Given the description of an element on the screen output the (x, y) to click on. 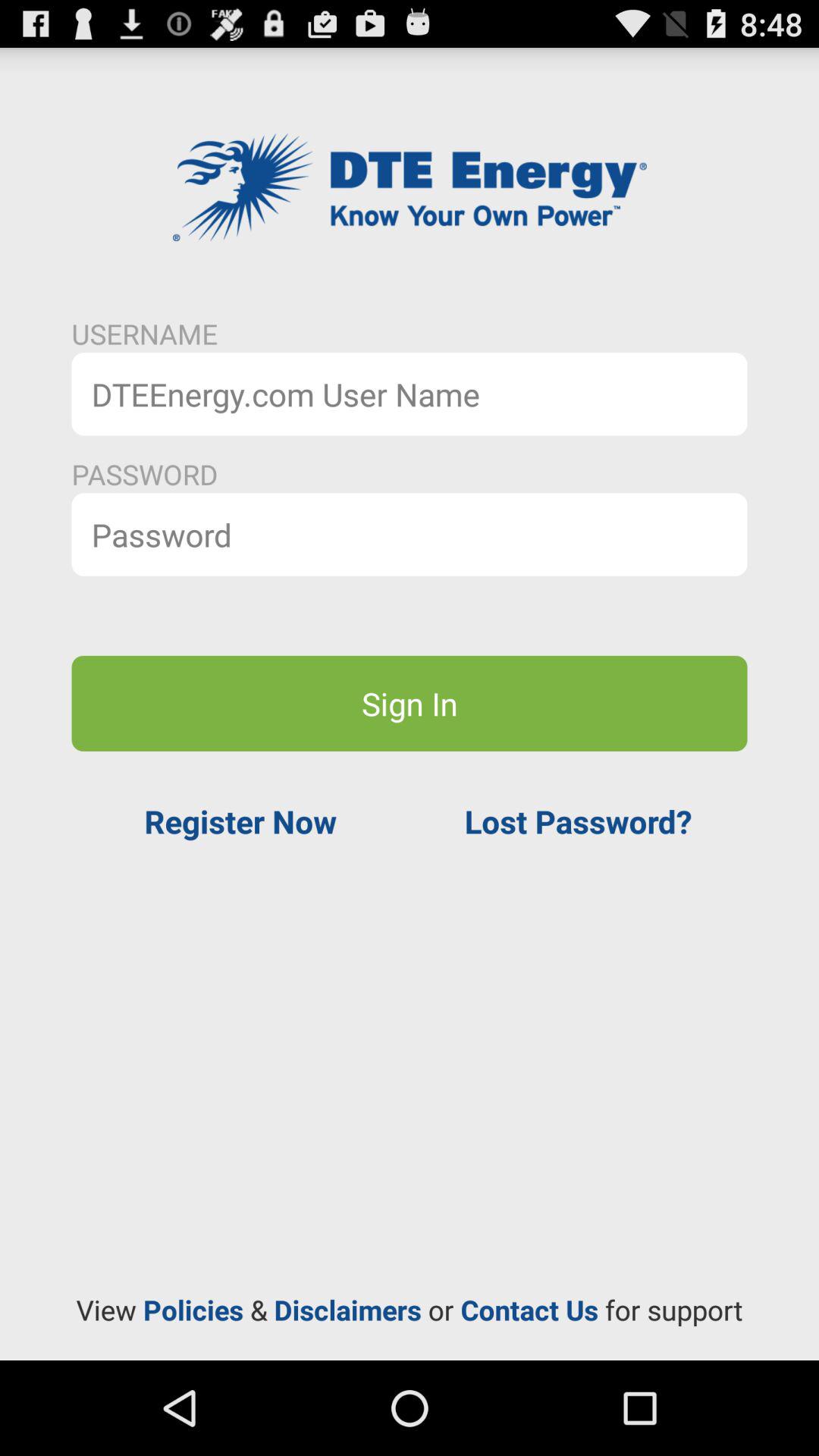
tap the app next to the register now item (578, 820)
